Given the description of an element on the screen output the (x, y) to click on. 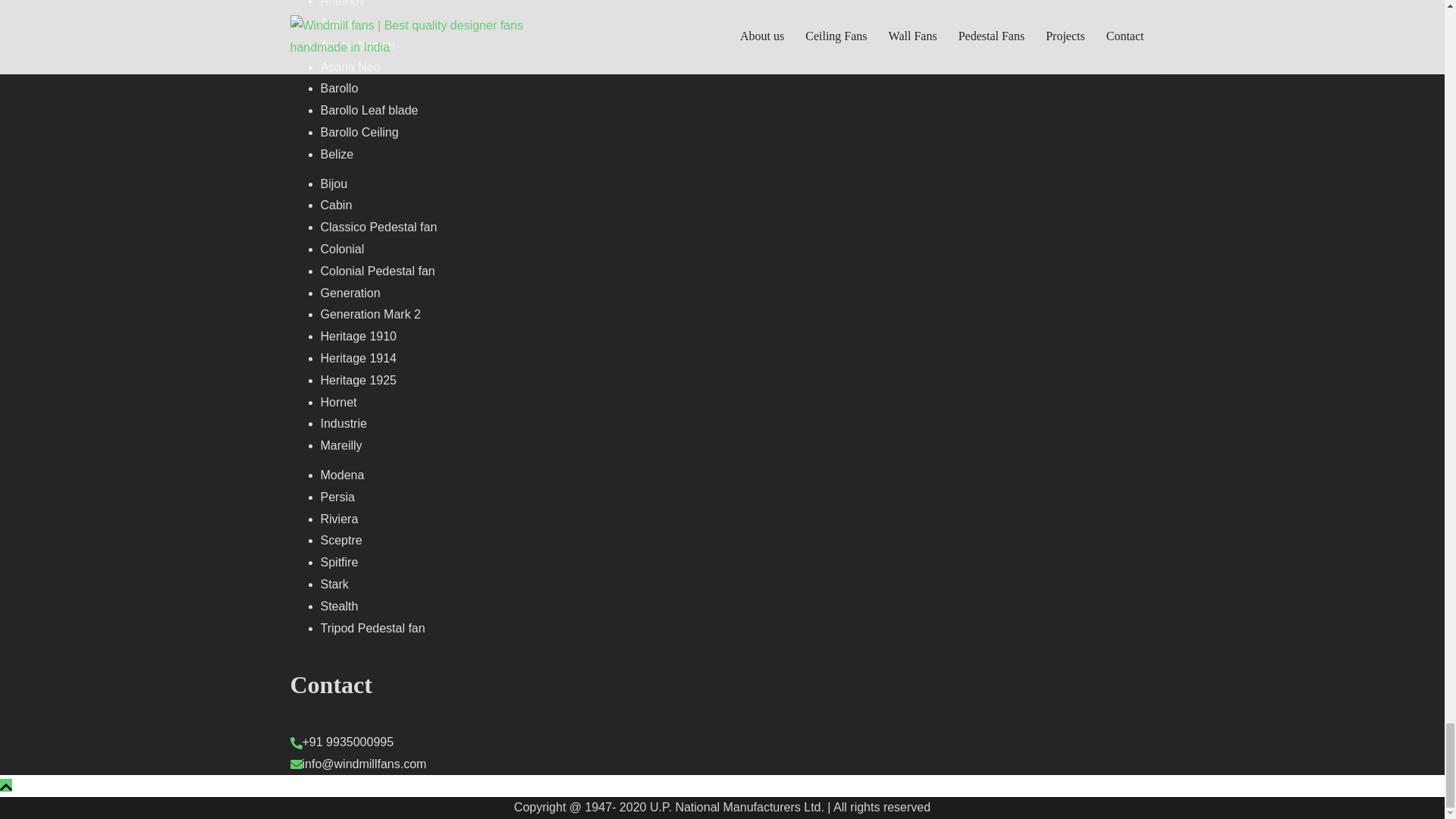
Generation Mark 2 (370, 314)
Colonial (342, 248)
Asana (336, 22)
Barollo Ceiling (358, 132)
Antonov (342, 3)
Cabin (336, 205)
Belize (336, 154)
Asana hugger (358, 44)
Asana Neo (350, 66)
Colonial Pedestal fan (376, 270)
